Given the description of an element on the screen output the (x, y) to click on. 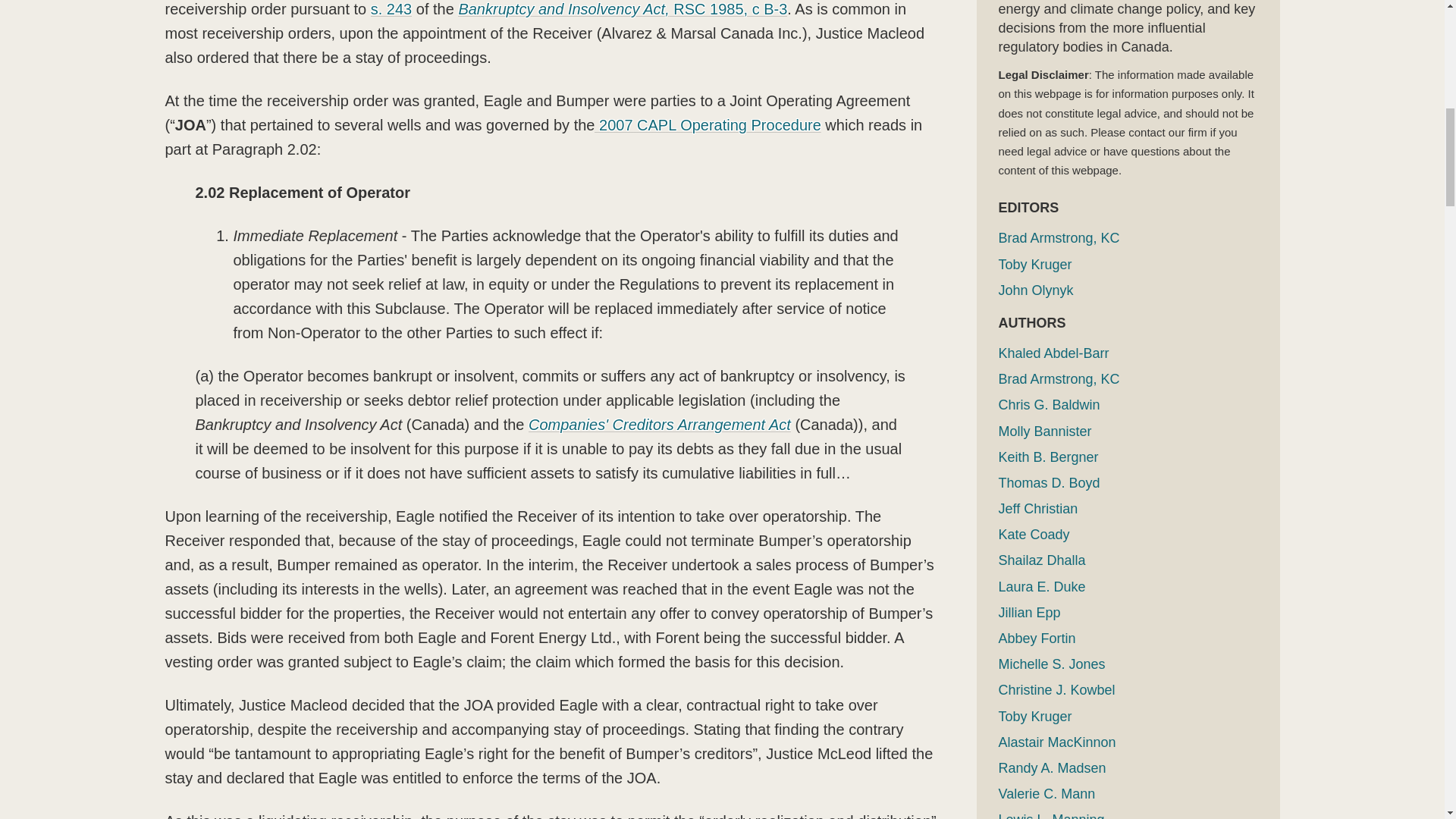
RSC 1985, c B-3 (728, 8)
Brad Armstrong, KC (1058, 237)
Bankruptcy and Insolvency Act, (563, 8)
2007 CAPL Operating Procedure (707, 125)
John Olynyk (1035, 290)
s. 243 (391, 8)
Companies' Creditors Arrangement Act (659, 424)
Toby Kruger (1034, 264)
